Given the description of an element on the screen output the (x, y) to click on. 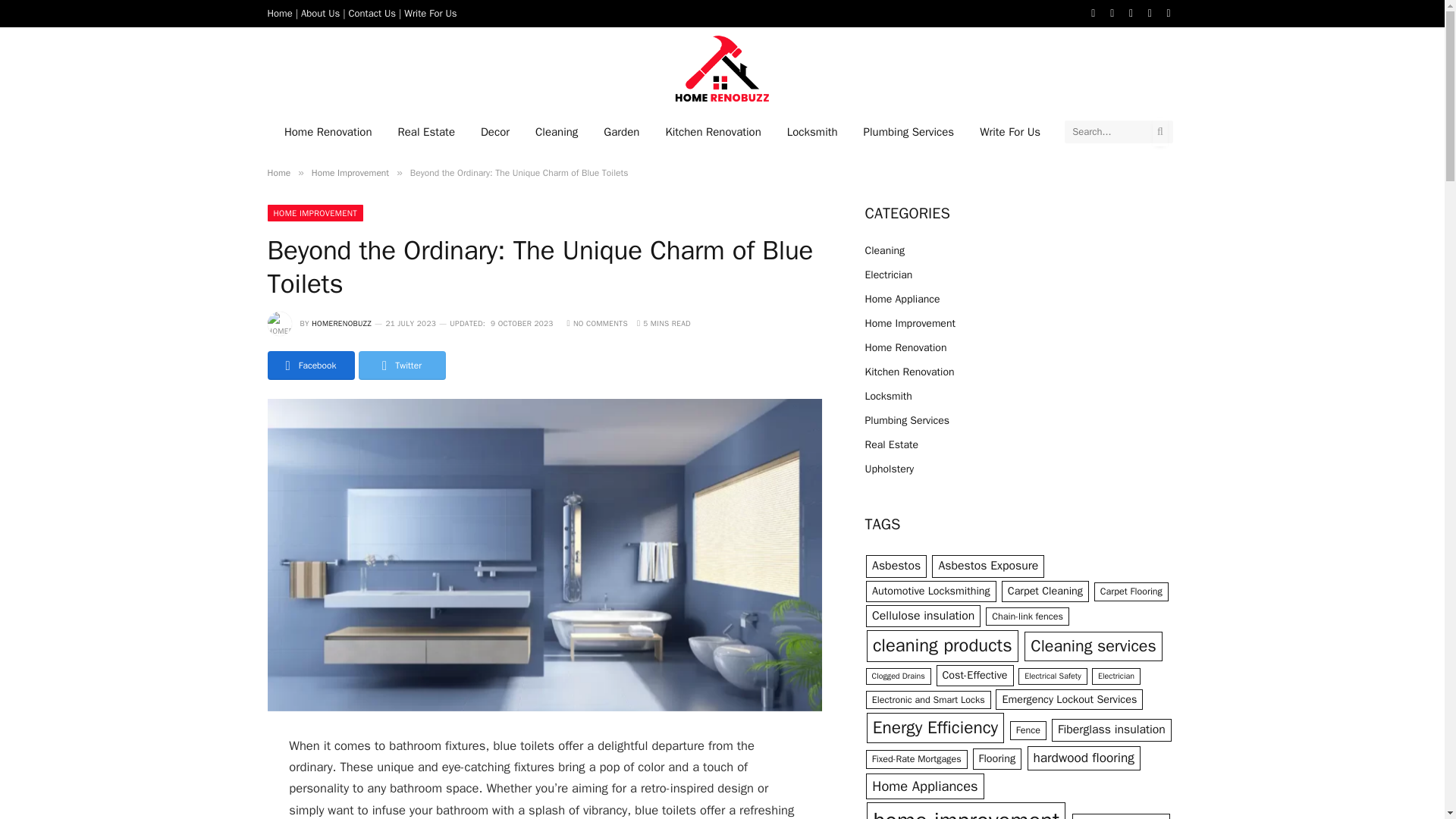
Kitchen Renovation (712, 131)
Home Improvement (349, 173)
Home Renovation (327, 131)
Decor (494, 131)
About Us (320, 12)
Write For Us (1009, 131)
Plumbing Services (909, 131)
Posts by Homerenobuzz (341, 323)
Home (279, 12)
Garden (621, 131)
Share on Facebook (309, 365)
Locksmith (812, 131)
Write For Us (430, 12)
Contact Us (372, 12)
